Given the description of an element on the screen output the (x, y) to click on. 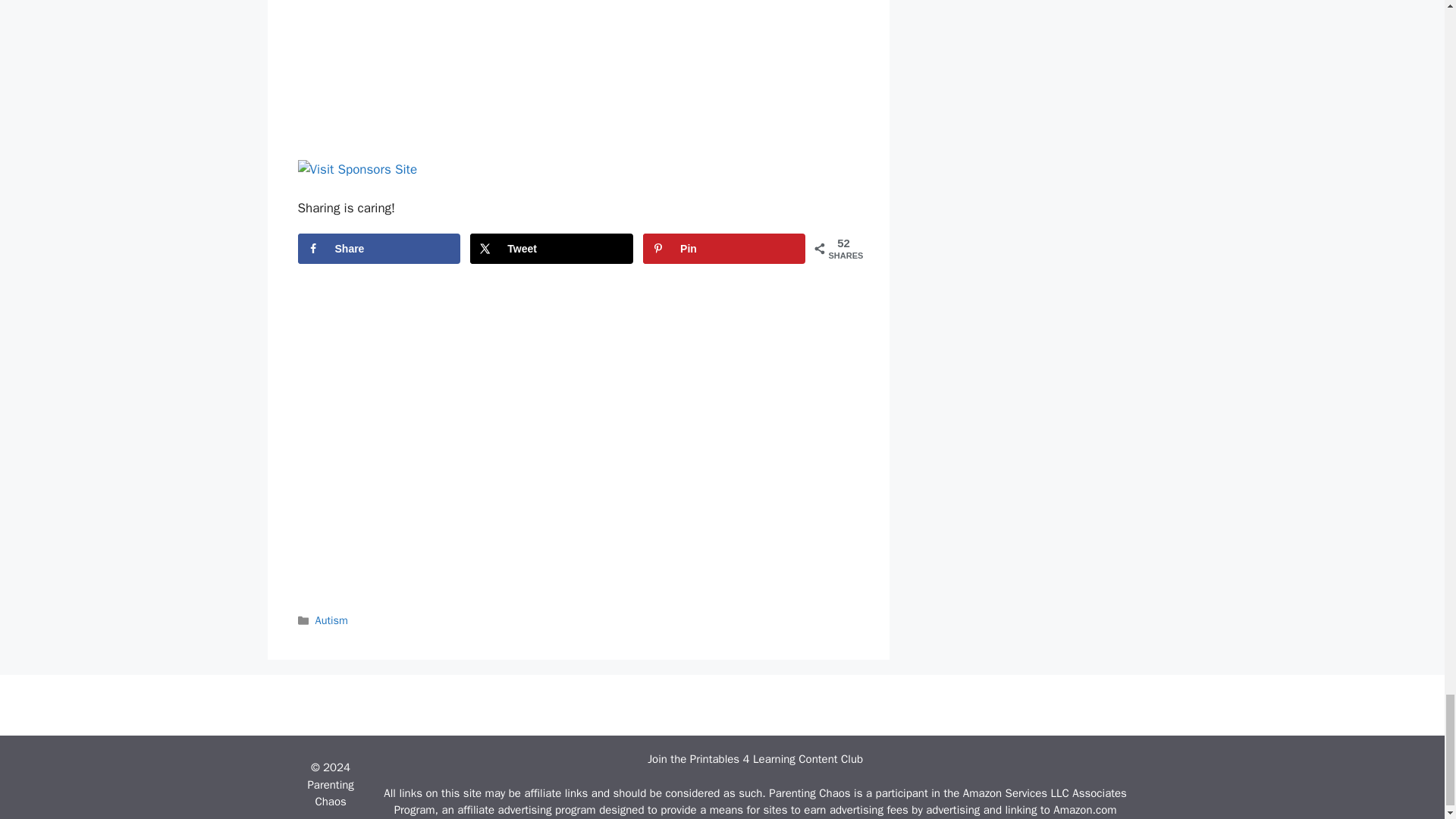
Pin (724, 248)
Autism (331, 620)
Share on Facebook (378, 248)
Save to Pinterest (724, 248)
Share (378, 248)
Tweet (550, 248)
Share on X (550, 248)
